Given the description of an element on the screen output the (x, y) to click on. 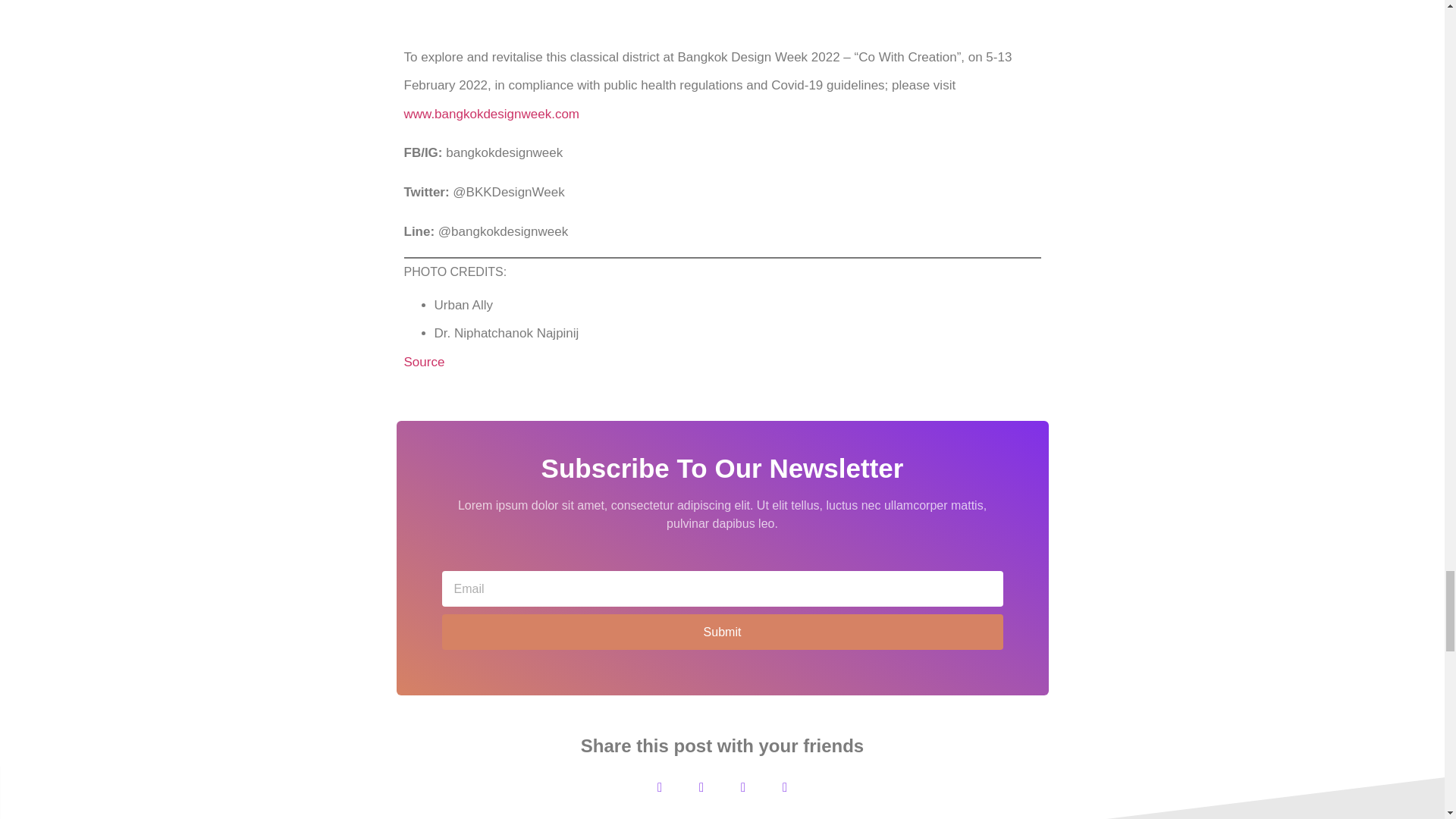
Submit (722, 632)
Source (423, 361)
www.bangkokdesignweek.com (491, 114)
